Given the description of an element on the screen output the (x, y) to click on. 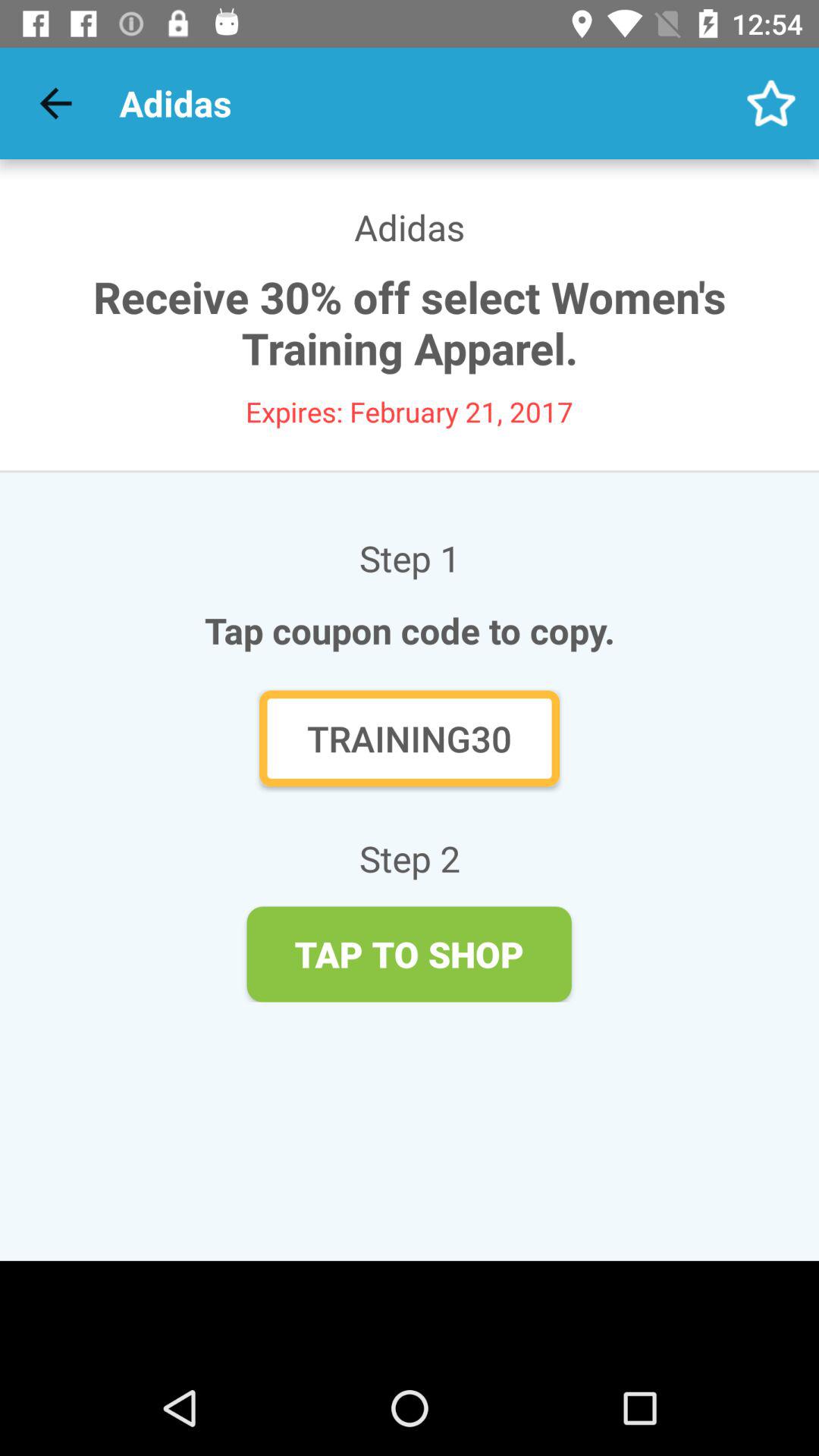
click the training30 icon (409, 738)
